Given the description of an element on the screen output the (x, y) to click on. 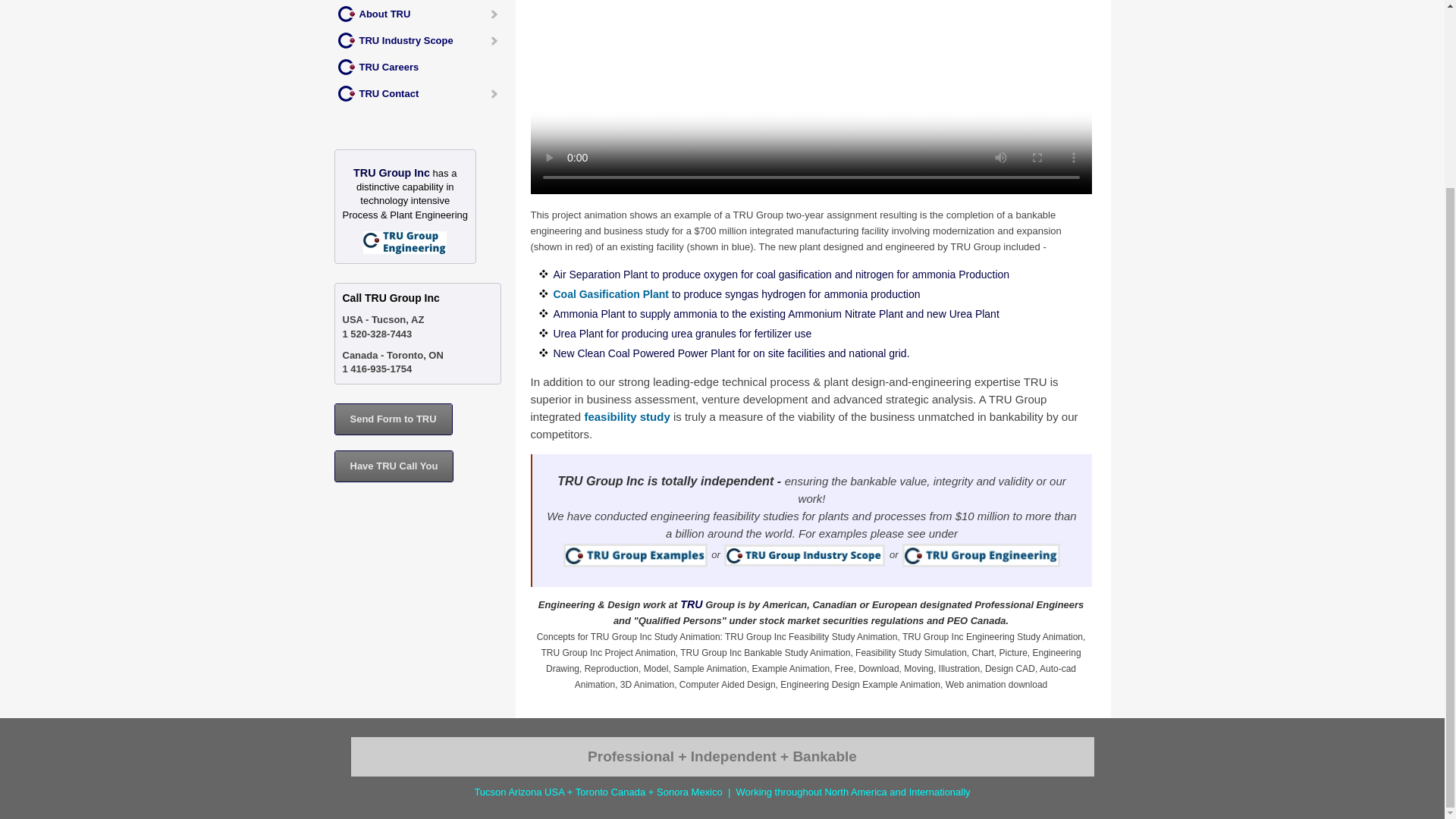
About TRU (421, 13)
Ask TRU to call you or send TRU your questions (392, 419)
TRU Industry Scope (421, 40)
Ask TRU to call you or send TRU your questions (393, 466)
